Given the description of an element on the screen output the (x, y) to click on. 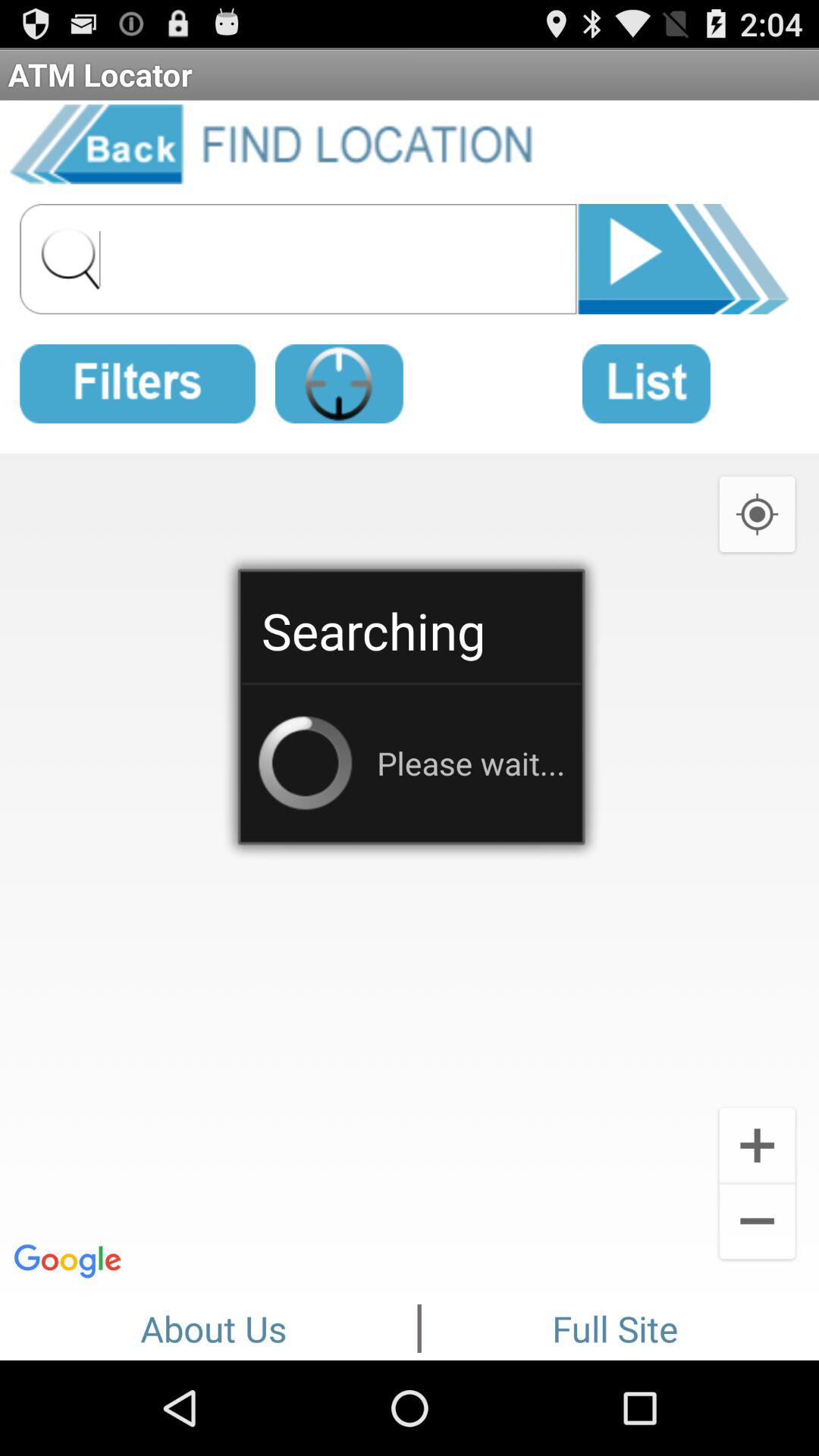
press icon on the right (757, 512)
